Given the description of an element on the screen output the (x, y) to click on. 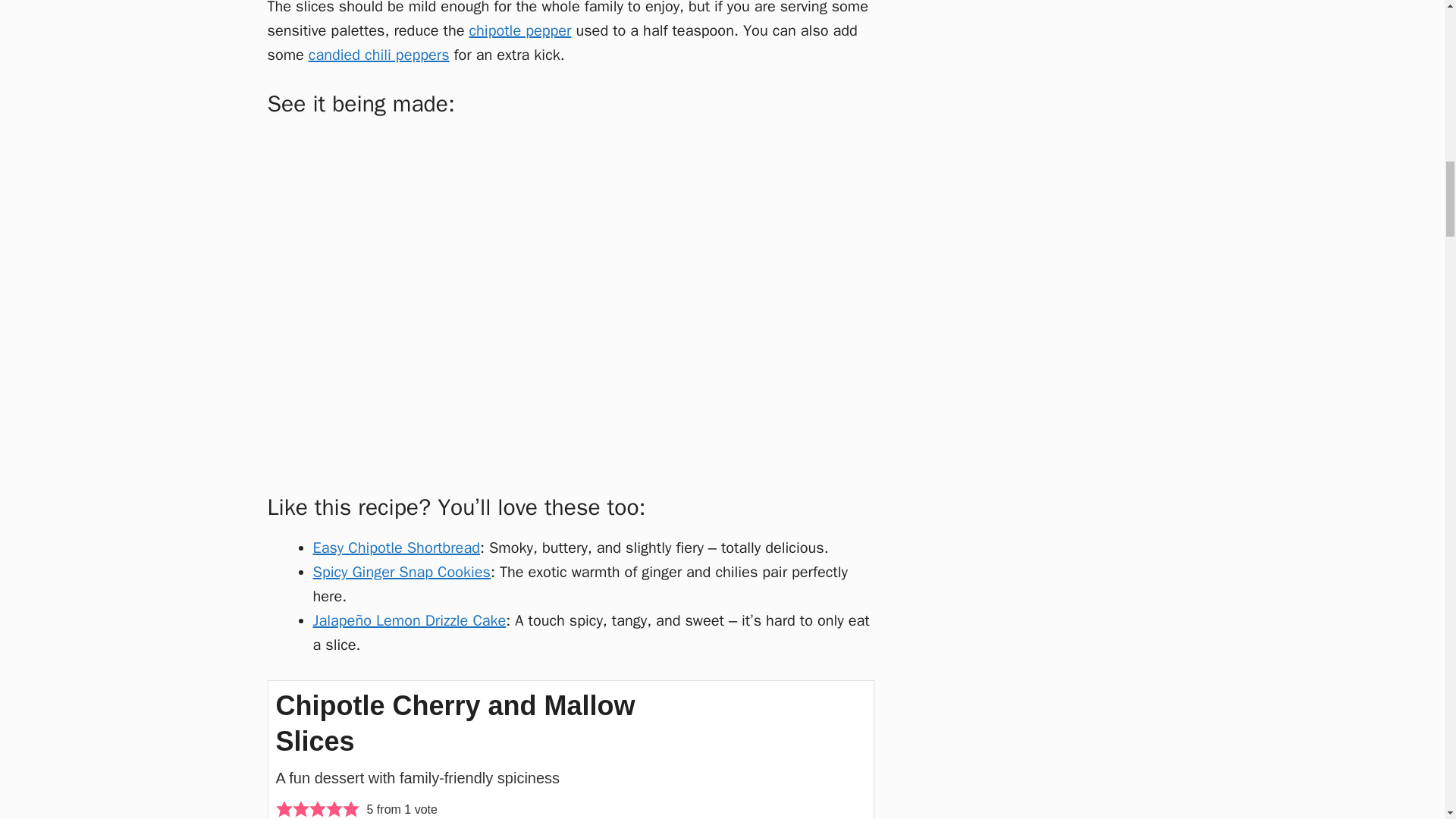
chipotle pepper (519, 30)
Spicy Ginger Snap Cookies (401, 571)
candied chili peppers (378, 54)
Easy Chipotle Shortbread (396, 547)
